Given the description of an element on the screen output the (x, y) to click on. 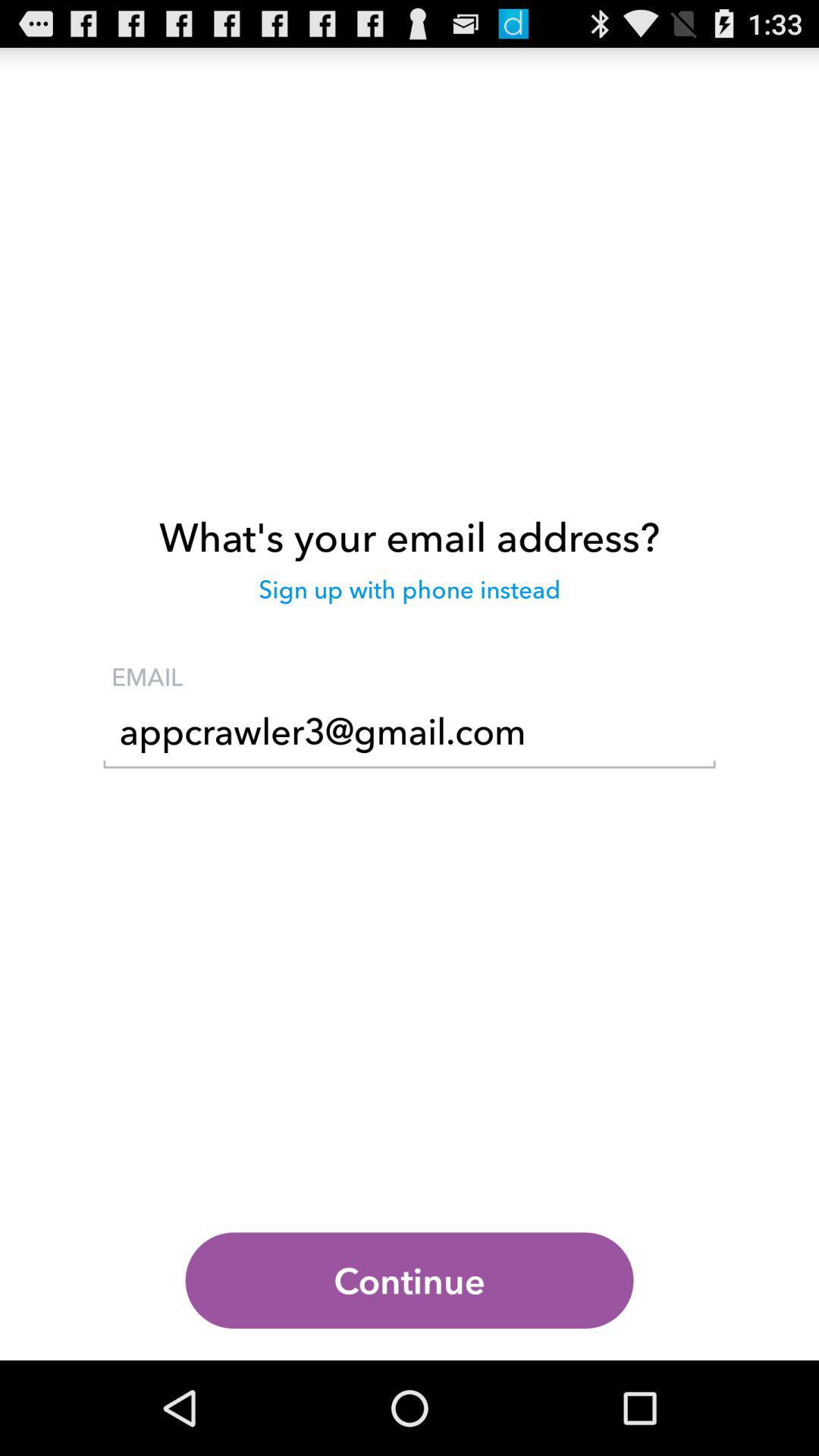
select the icon below the email item (409, 736)
